Given the description of an element on the screen output the (x, y) to click on. 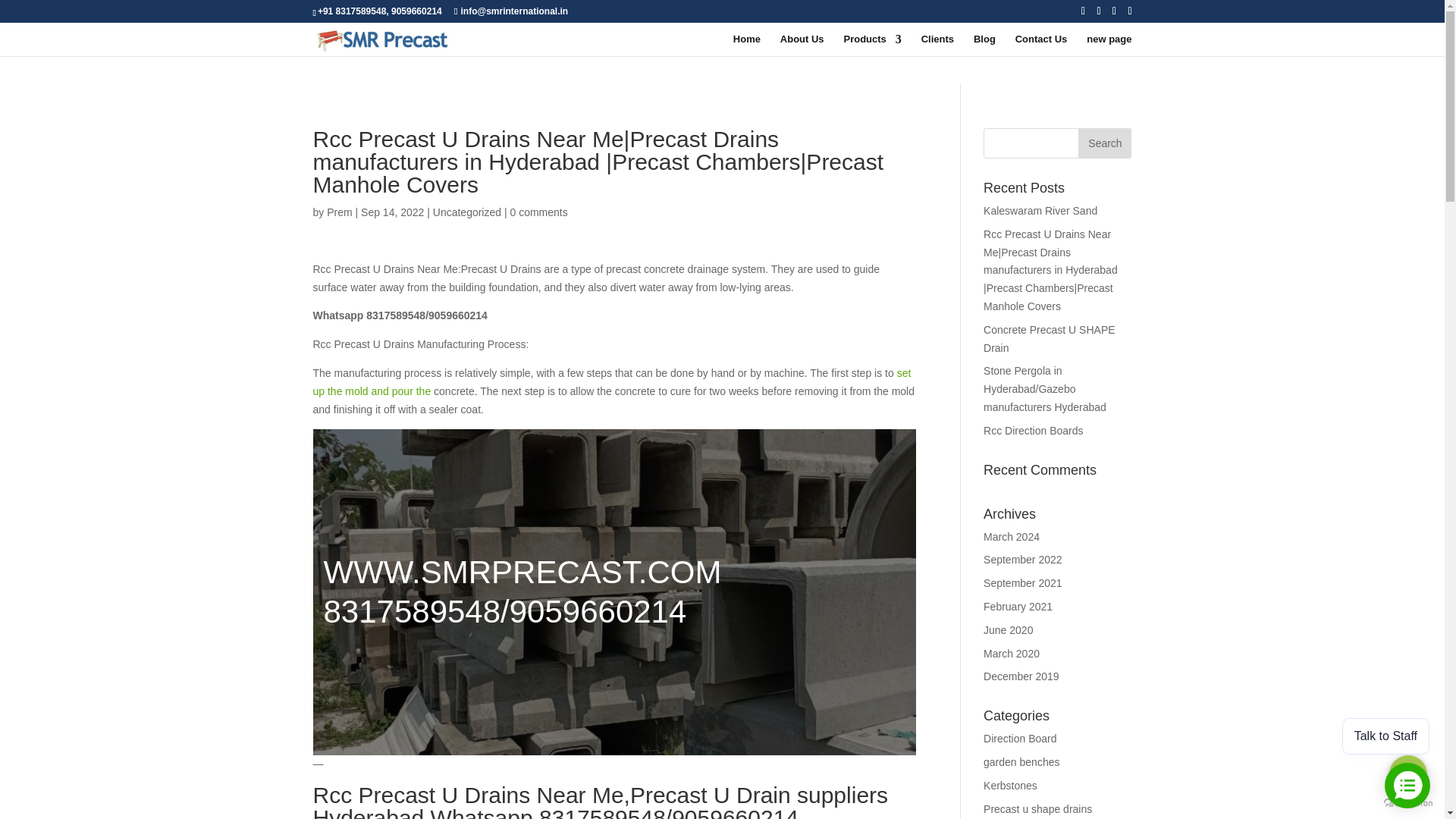
About Us (802, 45)
0 comments (538, 212)
set up the mold and pour the (612, 381)
Blog (984, 45)
Home (746, 45)
Prem (339, 212)
Products (872, 45)
Contact Us (1040, 45)
Clients (937, 45)
new page (1108, 45)
